Given the description of an element on the screen output the (x, y) to click on. 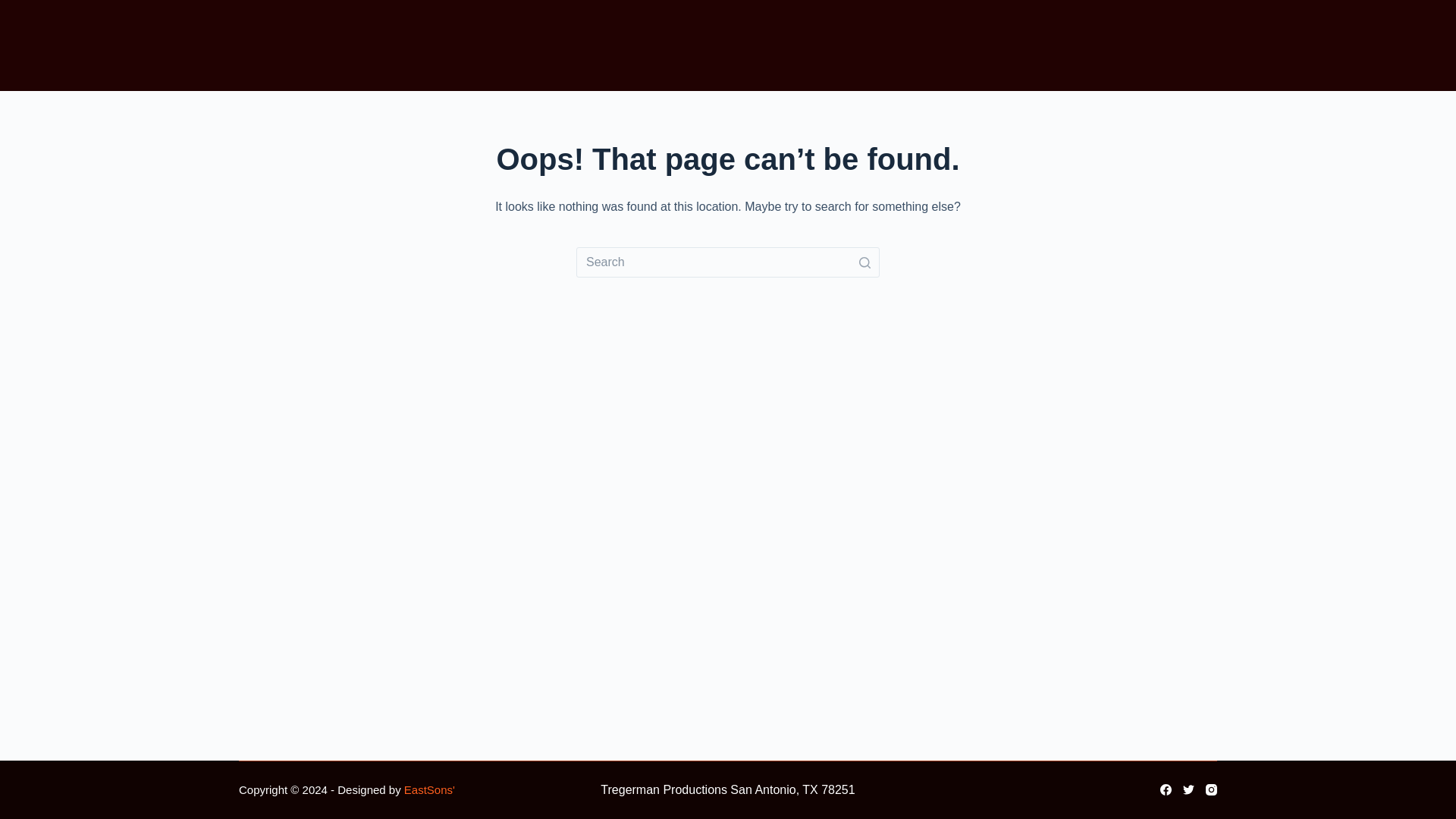
Search for... (727, 262)
Skip to content (15, 7)
EastSons' (429, 789)
